Given the description of an element on the screen output the (x, y) to click on. 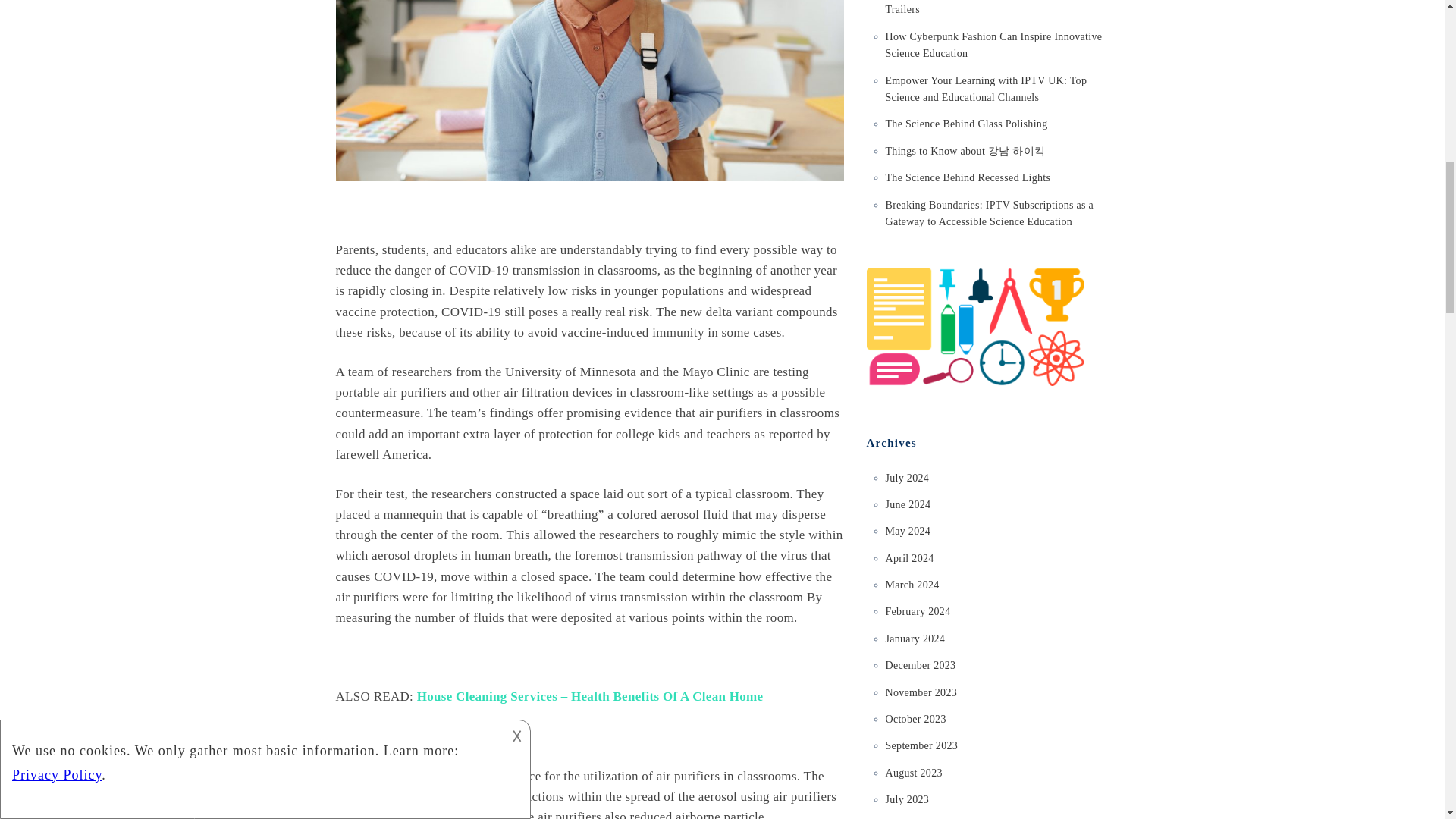
October 2023 (915, 718)
January 2024 (914, 638)
February 2024 (917, 611)
December 2023 (920, 665)
May 2024 (908, 531)
Exploring Science, Education, and Vintage Trailers (981, 7)
November 2023 (921, 692)
July 2024 (907, 478)
June 2024 (908, 504)
The Science Behind Glass Polishing (966, 123)
April 2024 (909, 558)
March 2024 (912, 584)
